Given the description of an element on the screen output the (x, y) to click on. 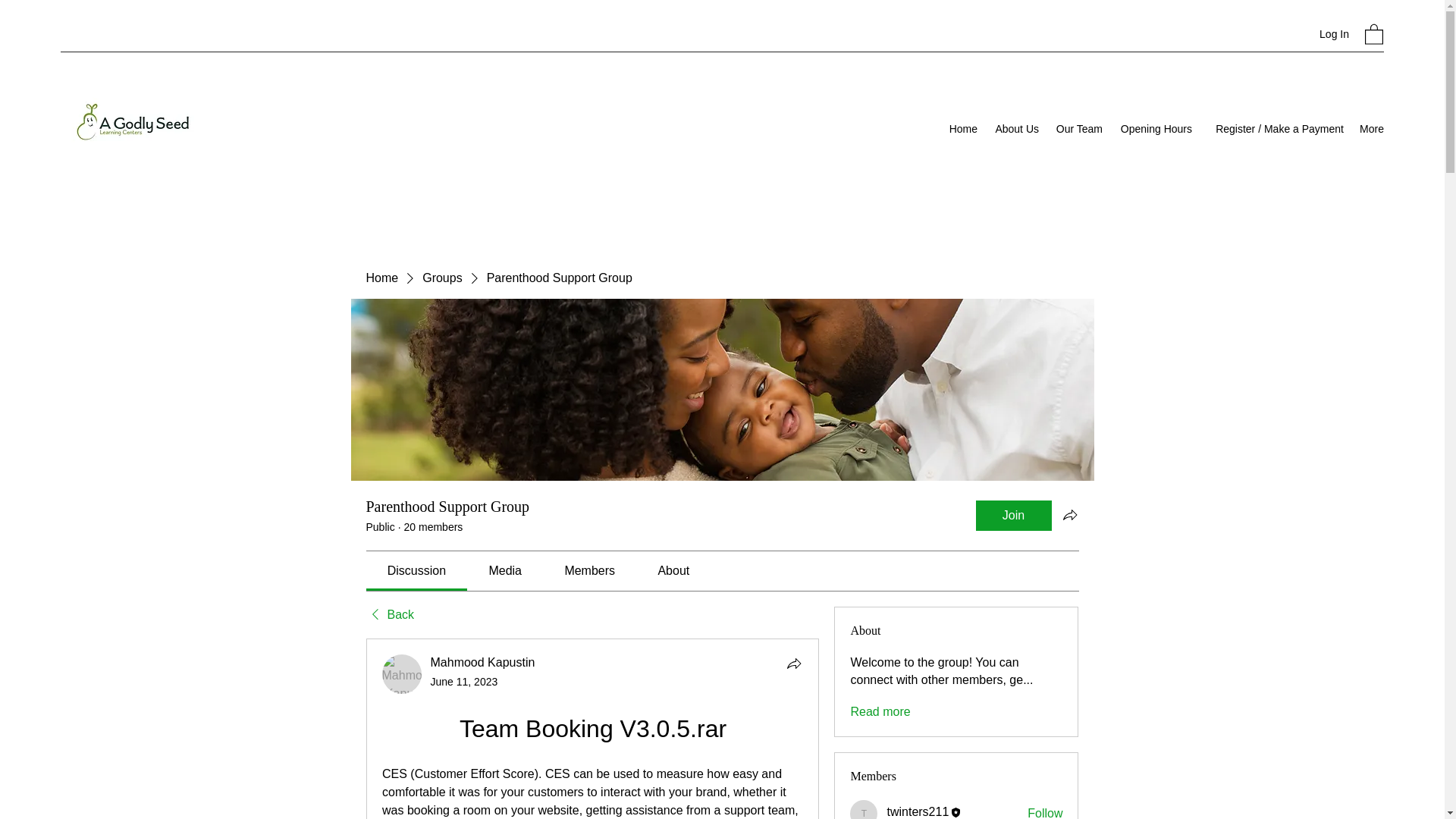
Groups (441, 278)
Join (1013, 515)
Home (381, 278)
Our Team (1077, 128)
twinters211 (917, 811)
Mahmood Kapustin (401, 673)
Home (962, 128)
twinters211 (863, 809)
Follow (1044, 812)
Back (389, 614)
About Us (1015, 128)
Opening Hours (1154, 128)
June 11, 2023 (463, 681)
Log In (1333, 34)
Read more (880, 711)
